Given the description of an element on the screen output the (x, y) to click on. 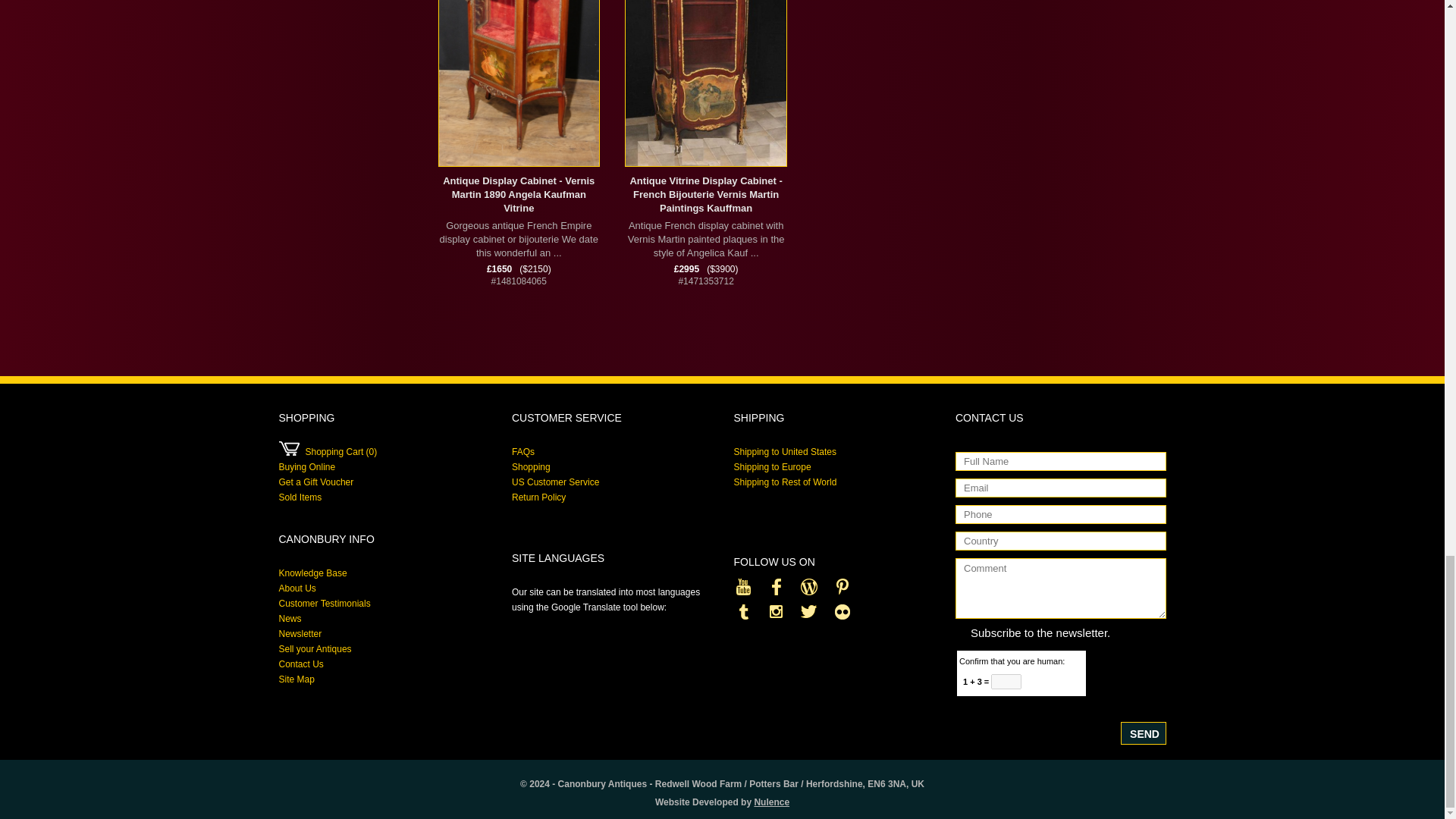
Send (1143, 732)
